Given the description of an element on the screen output the (x, y) to click on. 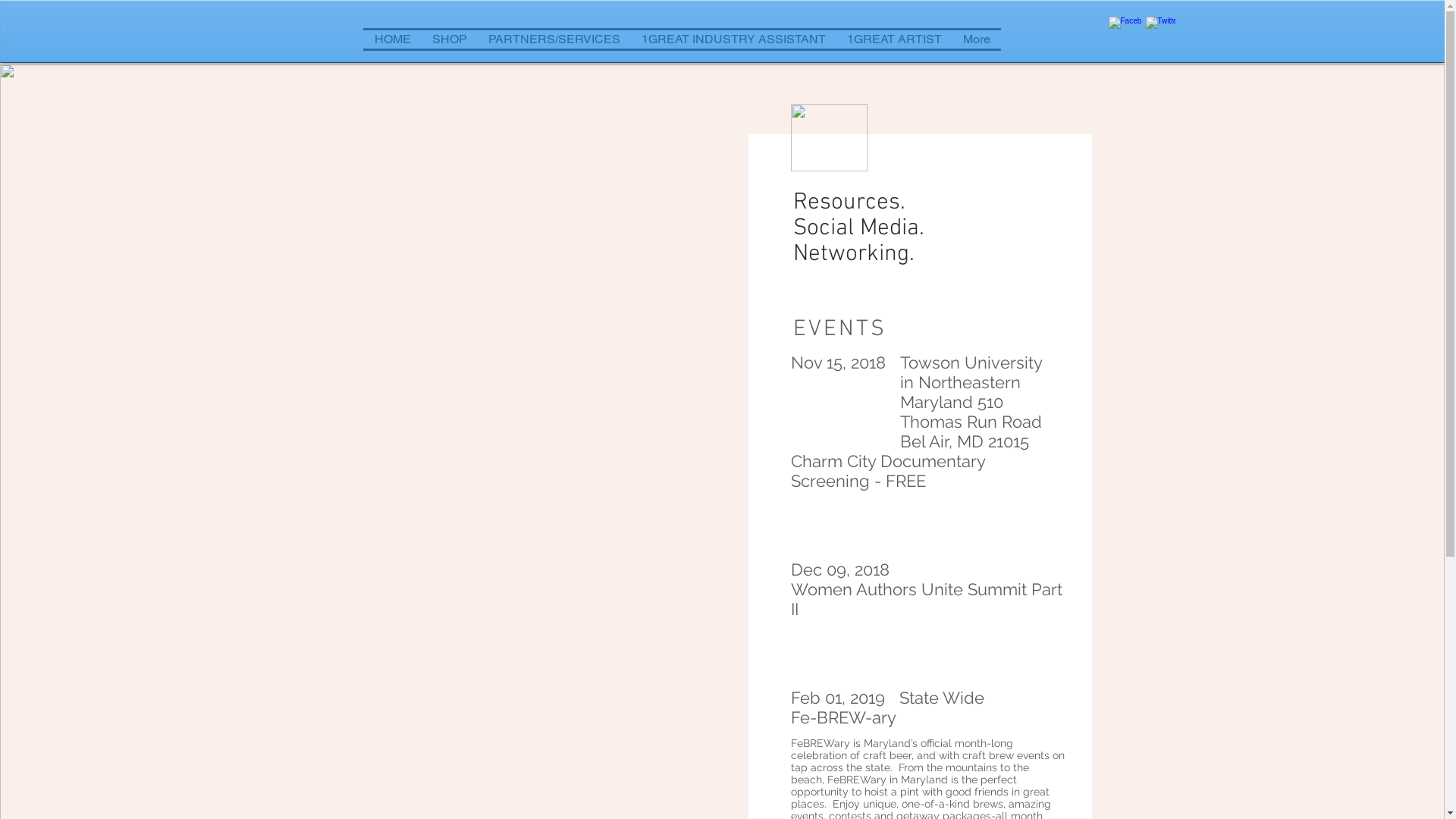
1GREAT INDUSTRY ASSISTANT Element type: text (733, 39)
SHOP Element type: text (449, 39)
Women Authors Unite Summit Part II Element type: text (926, 598)
PARTNERS/SERVICES Element type: text (553, 39)
HOME Element type: text (392, 39)
1GREAT ARTIST Element type: text (893, 39)
